Given the description of an element on the screen output the (x, y) to click on. 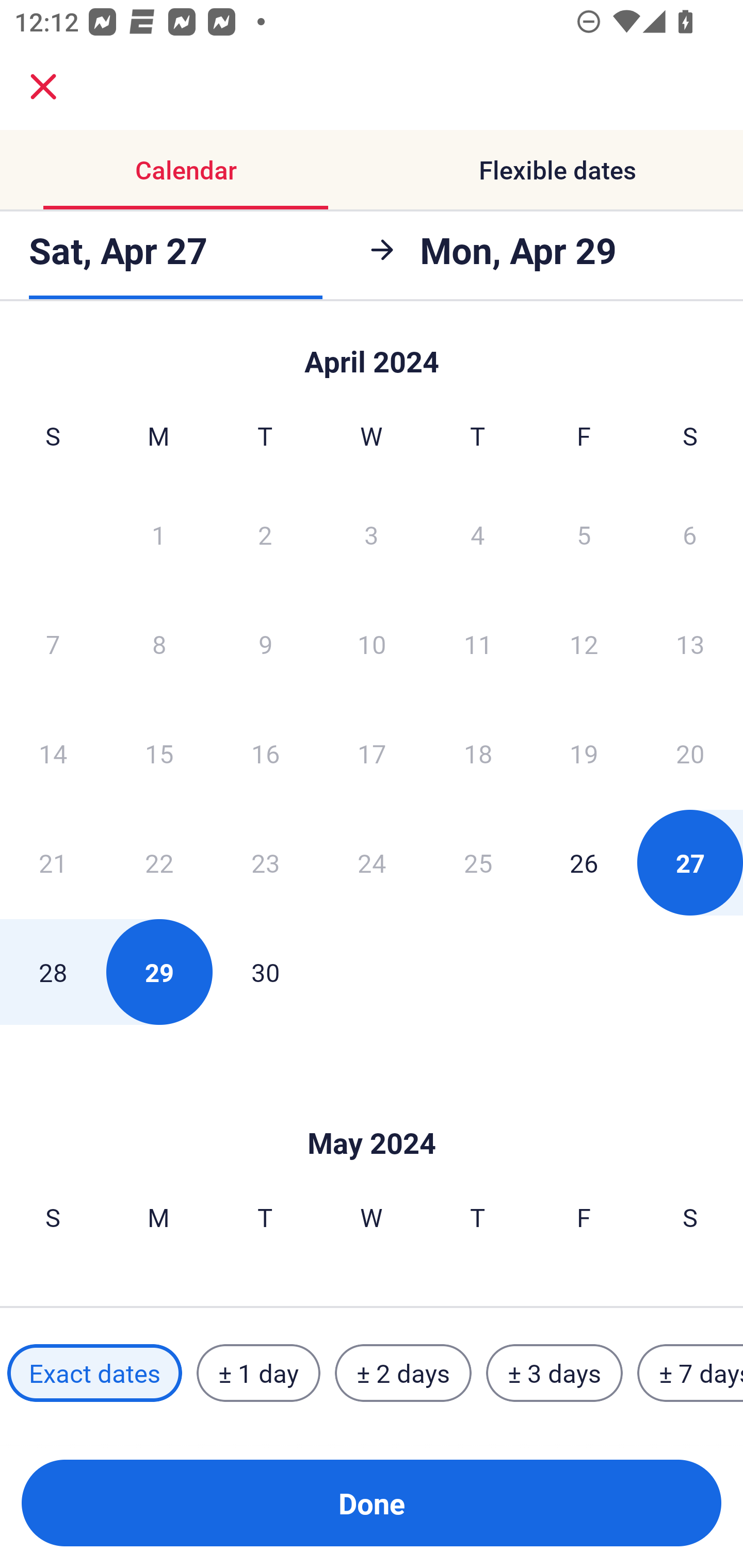
close. (43, 86)
Flexible dates (557, 170)
Skip to Done (371, 352)
1 Monday, April 1, 2024 (158, 534)
2 Tuesday, April 2, 2024 (264, 534)
3 Wednesday, April 3, 2024 (371, 534)
4 Thursday, April 4, 2024 (477, 534)
5 Friday, April 5, 2024 (583, 534)
6 Saturday, April 6, 2024 (689, 534)
7 Sunday, April 7, 2024 (53, 643)
8 Monday, April 8, 2024 (159, 643)
9 Tuesday, April 9, 2024 (265, 643)
10 Wednesday, April 10, 2024 (371, 643)
11 Thursday, April 11, 2024 (477, 643)
12 Friday, April 12, 2024 (584, 643)
13 Saturday, April 13, 2024 (690, 643)
14 Sunday, April 14, 2024 (53, 752)
15 Monday, April 15, 2024 (159, 752)
16 Tuesday, April 16, 2024 (265, 752)
17 Wednesday, April 17, 2024 (371, 752)
18 Thursday, April 18, 2024 (477, 752)
19 Friday, April 19, 2024 (584, 752)
20 Saturday, April 20, 2024 (690, 752)
21 Sunday, April 21, 2024 (53, 862)
22 Monday, April 22, 2024 (159, 862)
23 Tuesday, April 23, 2024 (265, 862)
24 Wednesday, April 24, 2024 (371, 862)
25 Thursday, April 25, 2024 (477, 862)
26 Friday, April 26, 2024 (584, 862)
30 Tuesday, April 30, 2024 (265, 971)
Skip to Done (371, 1112)
Exact dates (94, 1372)
± 1 day (258, 1372)
± 2 days (403, 1372)
± 3 days (553, 1372)
± 7 days (690, 1372)
Done (371, 1502)
